Given the description of an element on the screen output the (x, y) to click on. 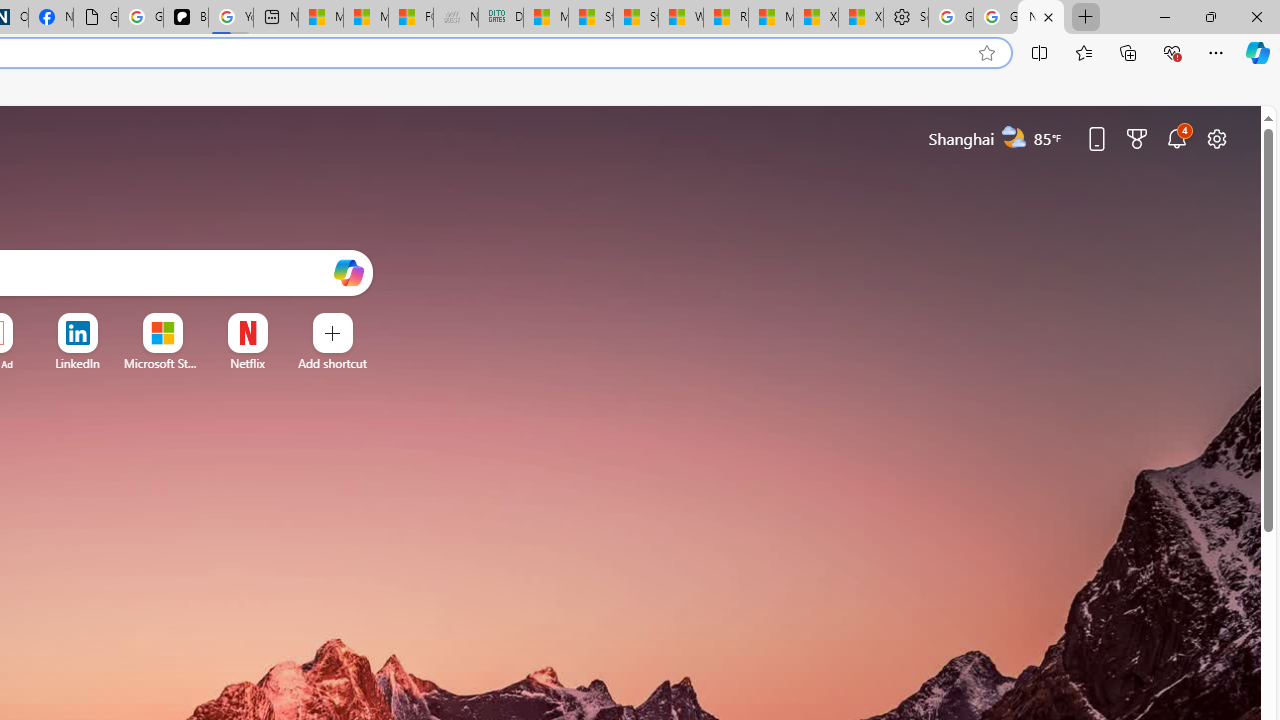
Partly cloudy (1014, 137)
R******* | Trusted Community Engagement and Contributions (725, 17)
Be Smart | creating Science videos | Patreon (185, 17)
Google Analytics Opt-out Browser Add-on Download Page (95, 17)
Page settings (1216, 138)
